Given the description of an element on the screen output the (x, y) to click on. 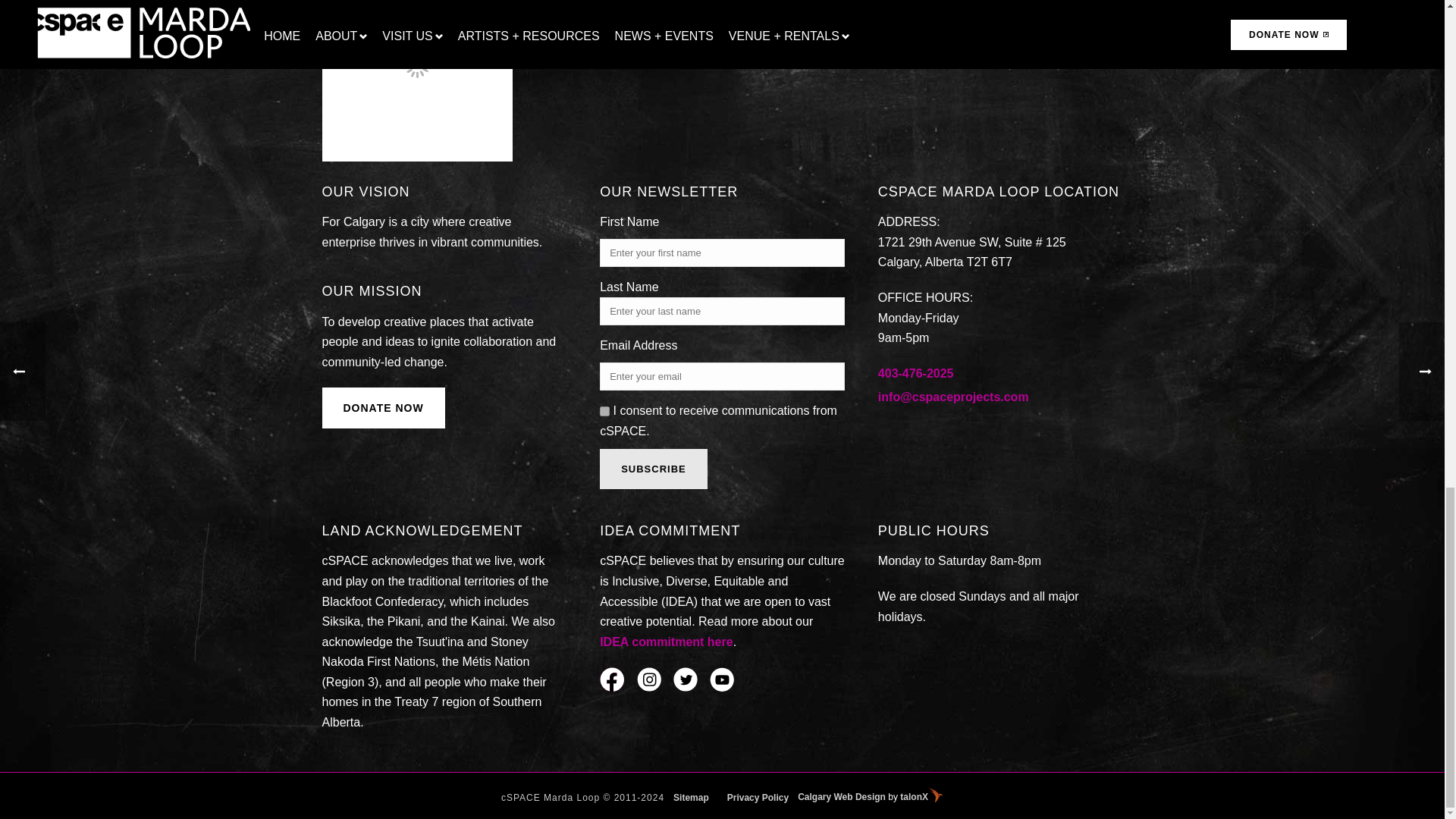
Subscribe (653, 468)
1 (604, 411)
